Given the description of an element on the screen output the (x, y) to click on. 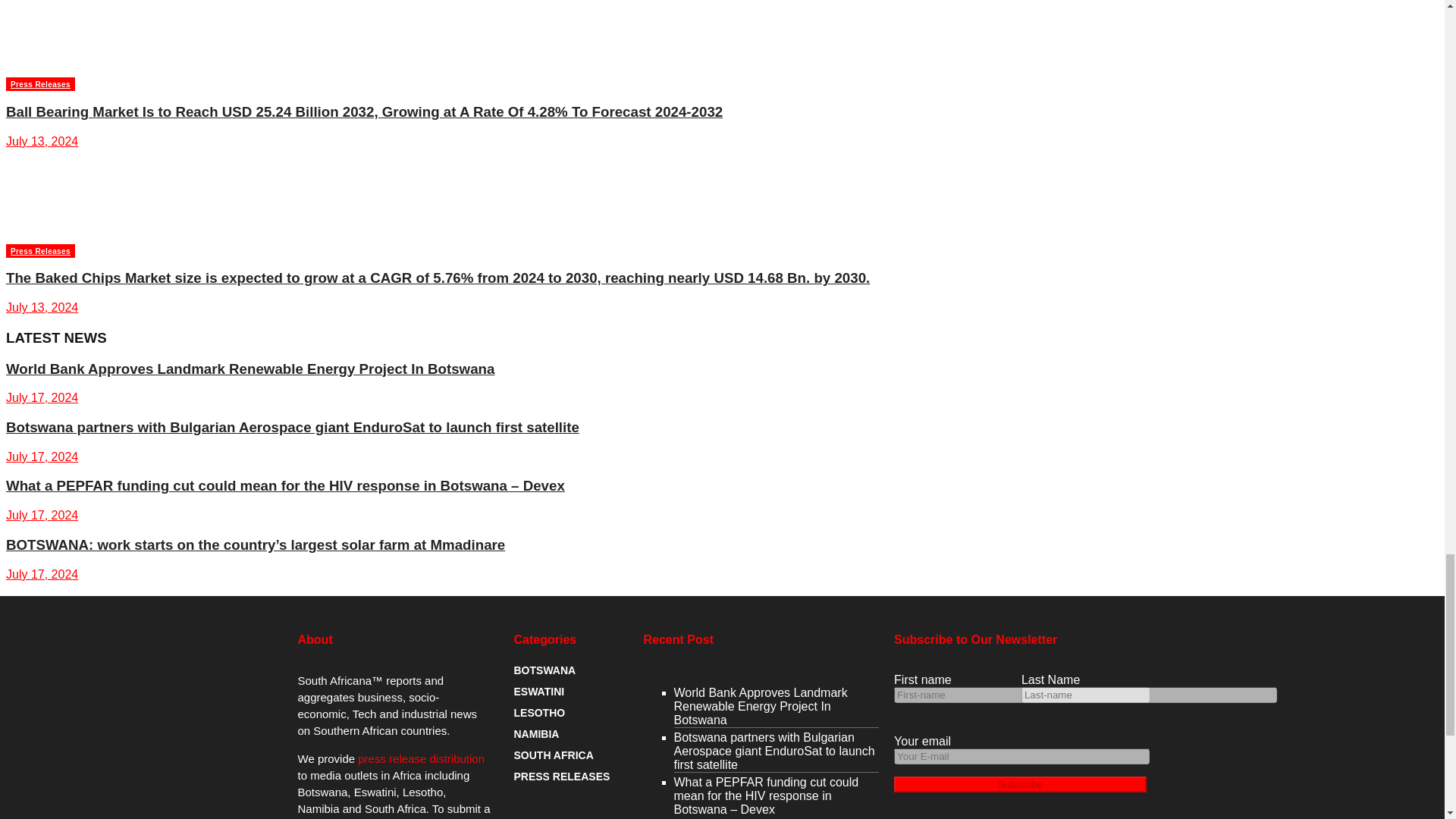
Subscribe (1020, 784)
